Given the description of an element on the screen output the (x, y) to click on. 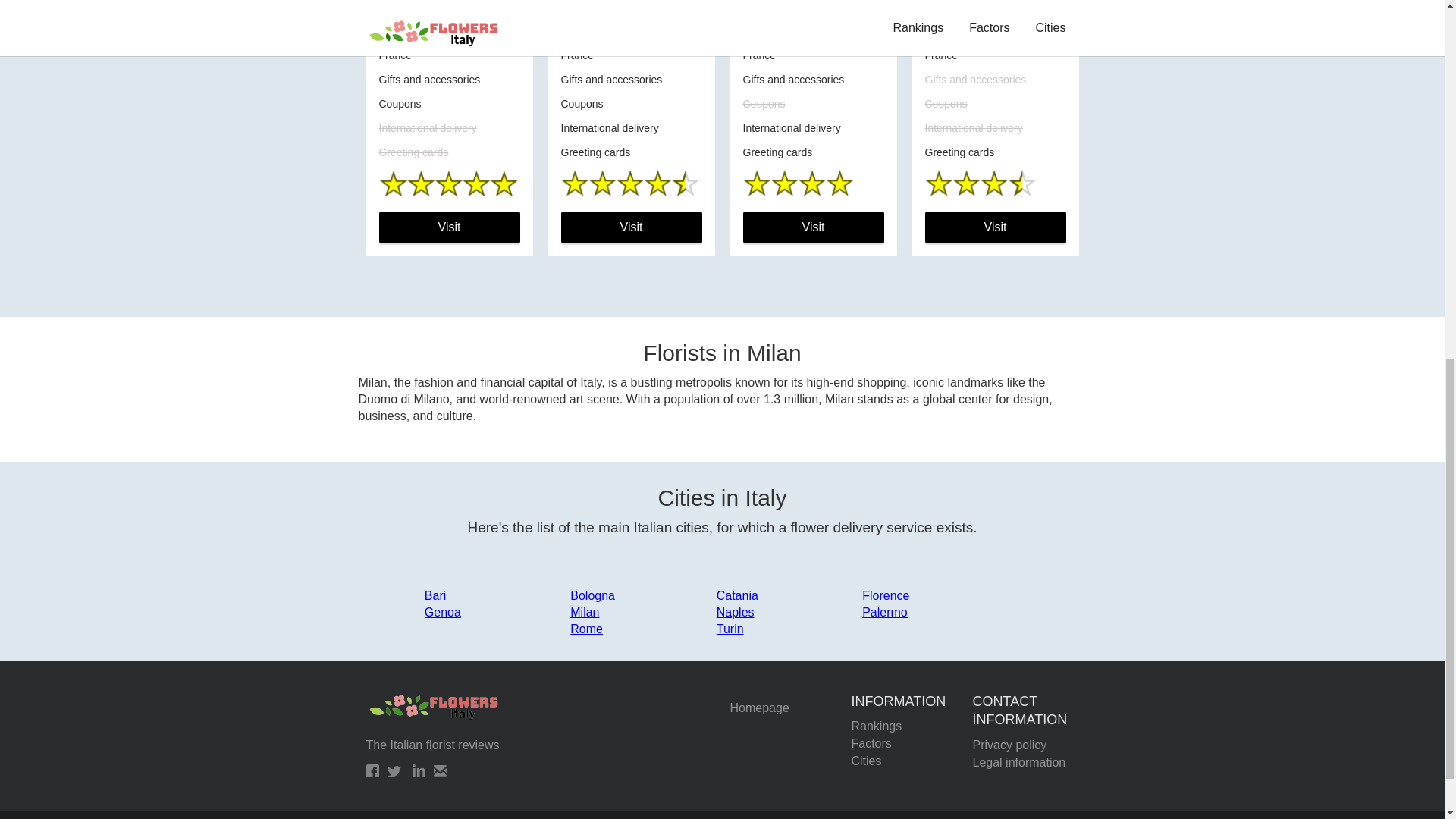
Visit (630, 227)
Florence (884, 594)
Milan (584, 612)
Turin (730, 628)
Bari (435, 594)
Genoa (443, 612)
Visit (812, 227)
Factors (903, 743)
Catania (737, 594)
Palermo (884, 612)
Bologna (592, 594)
Homepage (782, 708)
Legal information (1025, 763)
Rome (586, 628)
Rankings (903, 726)
